Given the description of an element on the screen output the (x, y) to click on. 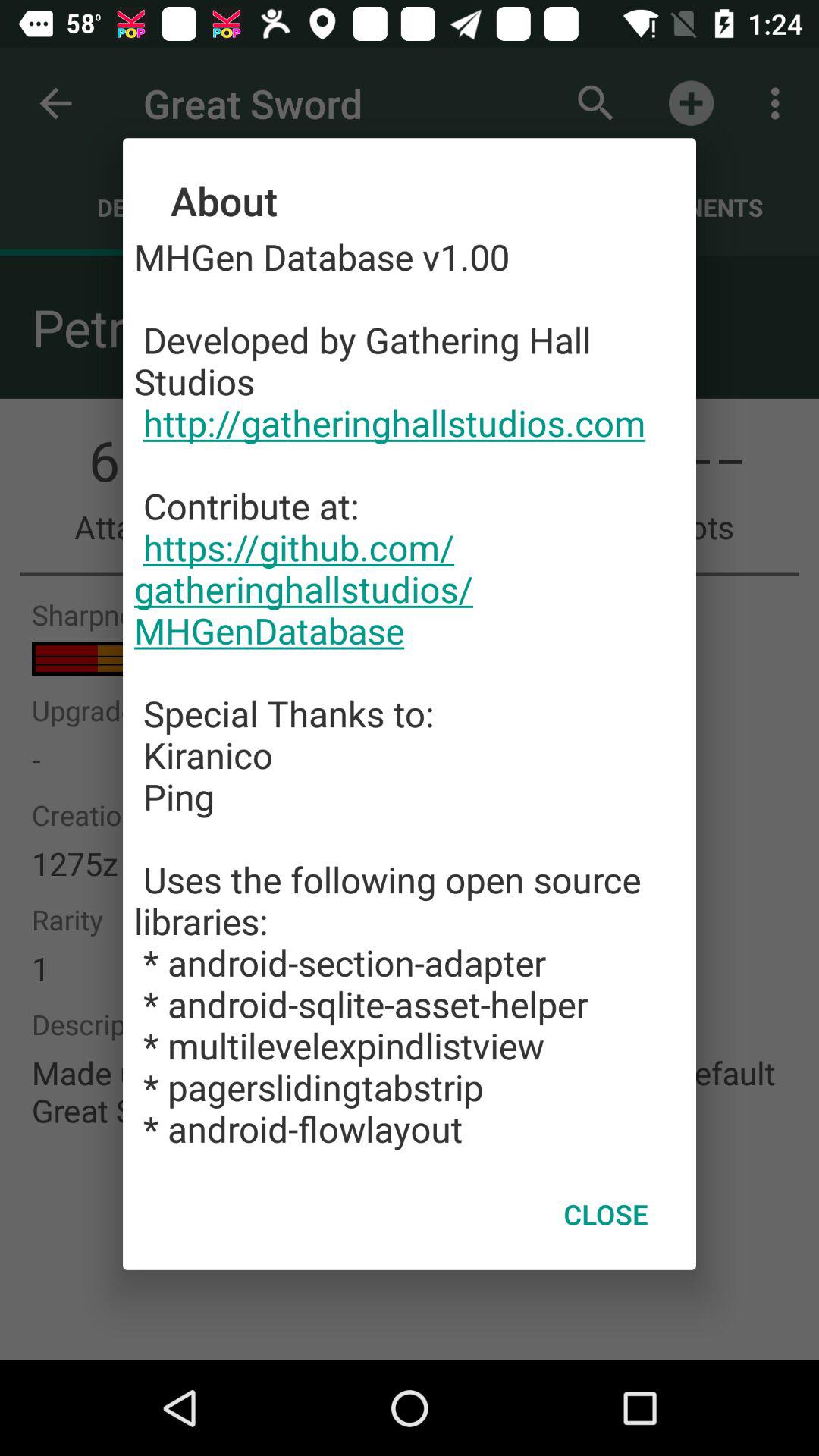
press the close icon (605, 1214)
